Given the description of an element on the screen output the (x, y) to click on. 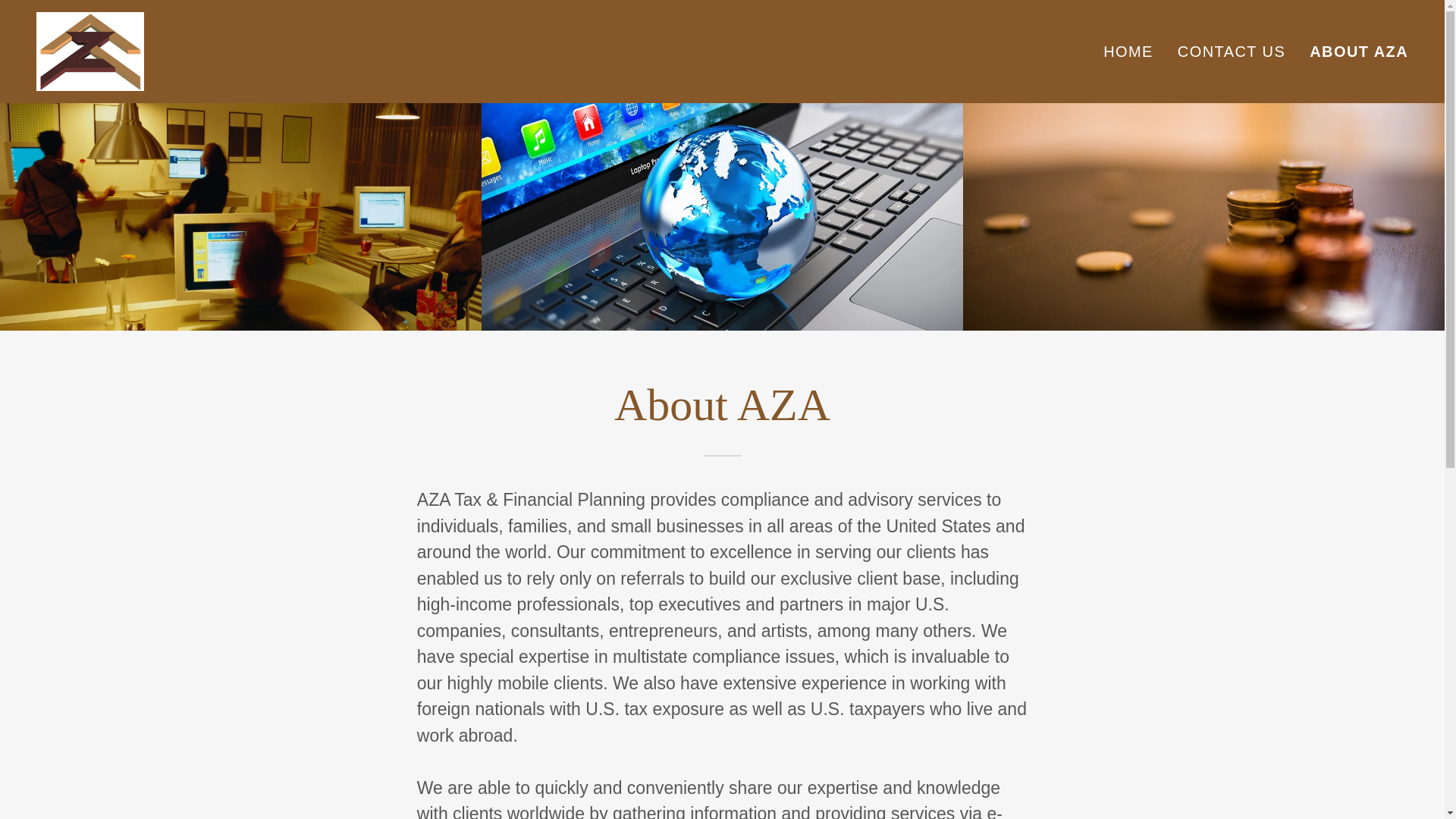
HOME (1128, 51)
AZA (90, 49)
CONTACT US (1231, 51)
ABOUT AZA (1357, 51)
